Given the description of an element on the screen output the (x, y) to click on. 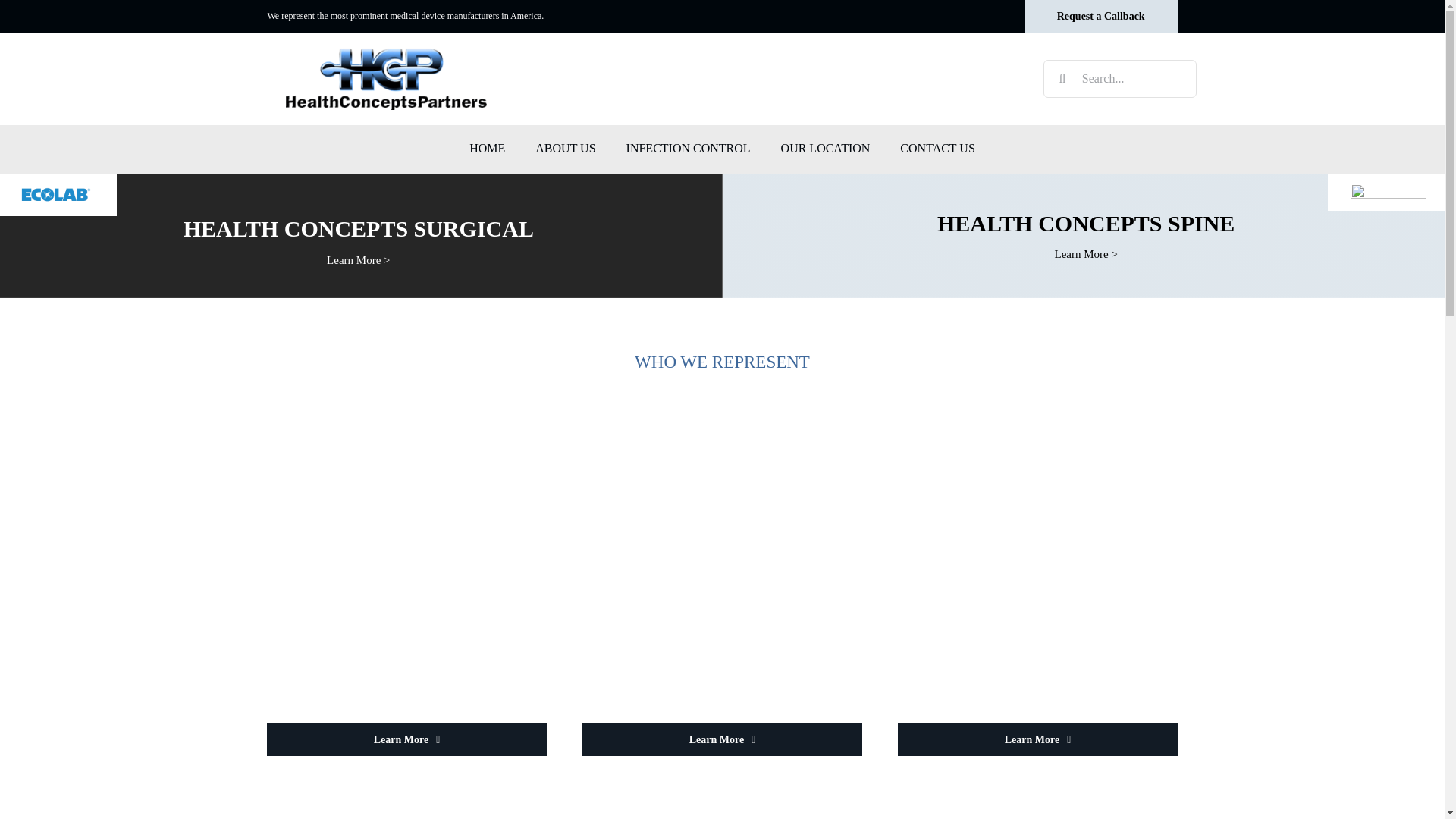
INFECTION CONTROL (688, 149)
Learn More (721, 739)
logos-07 (1388, 192)
Learn More (1037, 739)
ABOUT US (564, 149)
HCP Logos-11 (55, 194)
Request a Callback (1101, 16)
OUR LOCATION (825, 149)
Learn More (406, 739)
CONTACT US (937, 149)
HOME (486, 149)
